Given the description of an element on the screen output the (x, y) to click on. 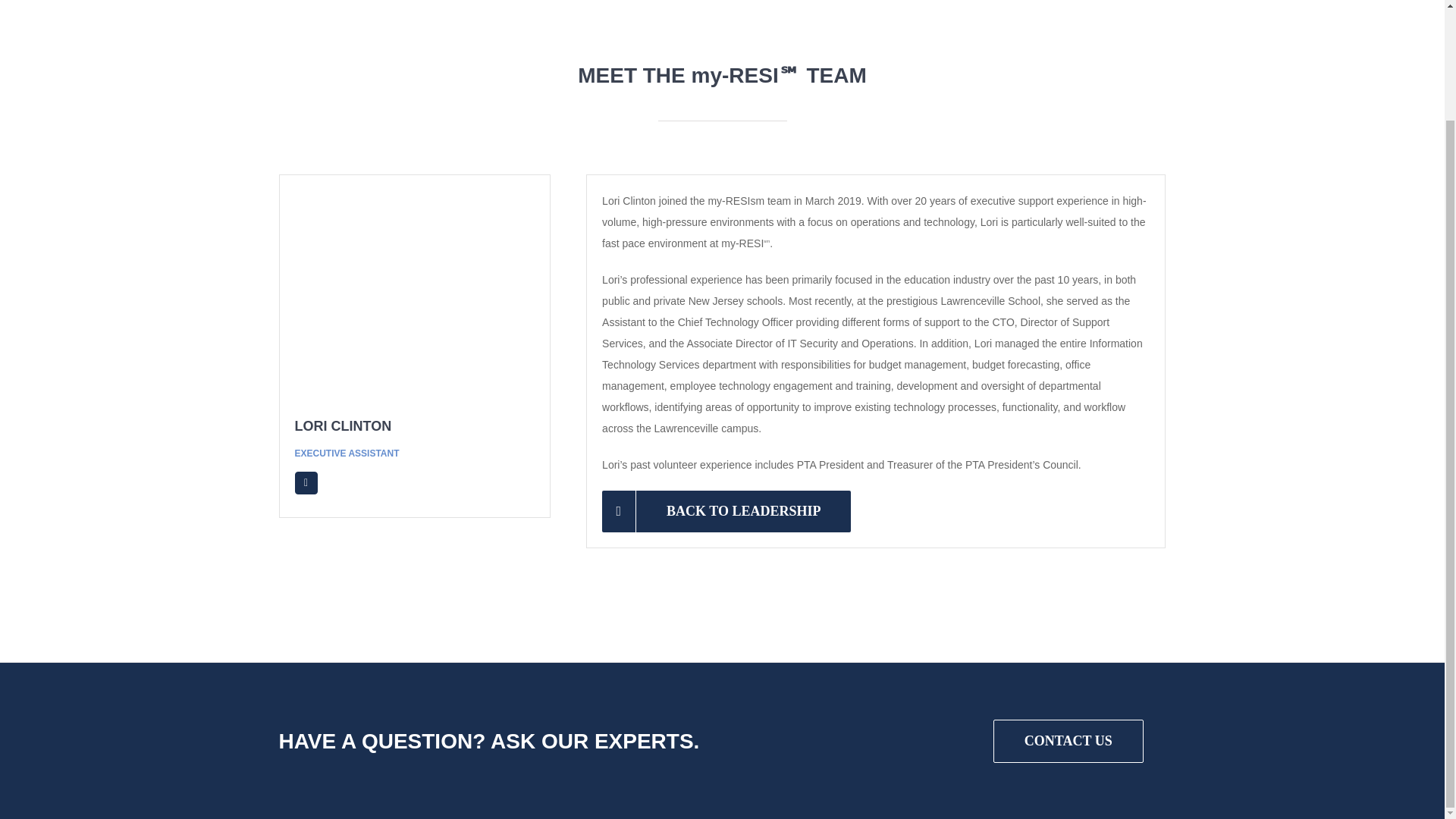
GRIDD (581, 660)
BACK TO LEADERSHIP (726, 511)
Lori-Clinton-new copy (414, 296)
CONTACT US (1067, 740)
LinkedIn (305, 482)
